Given the description of an element on the screen output the (x, y) to click on. 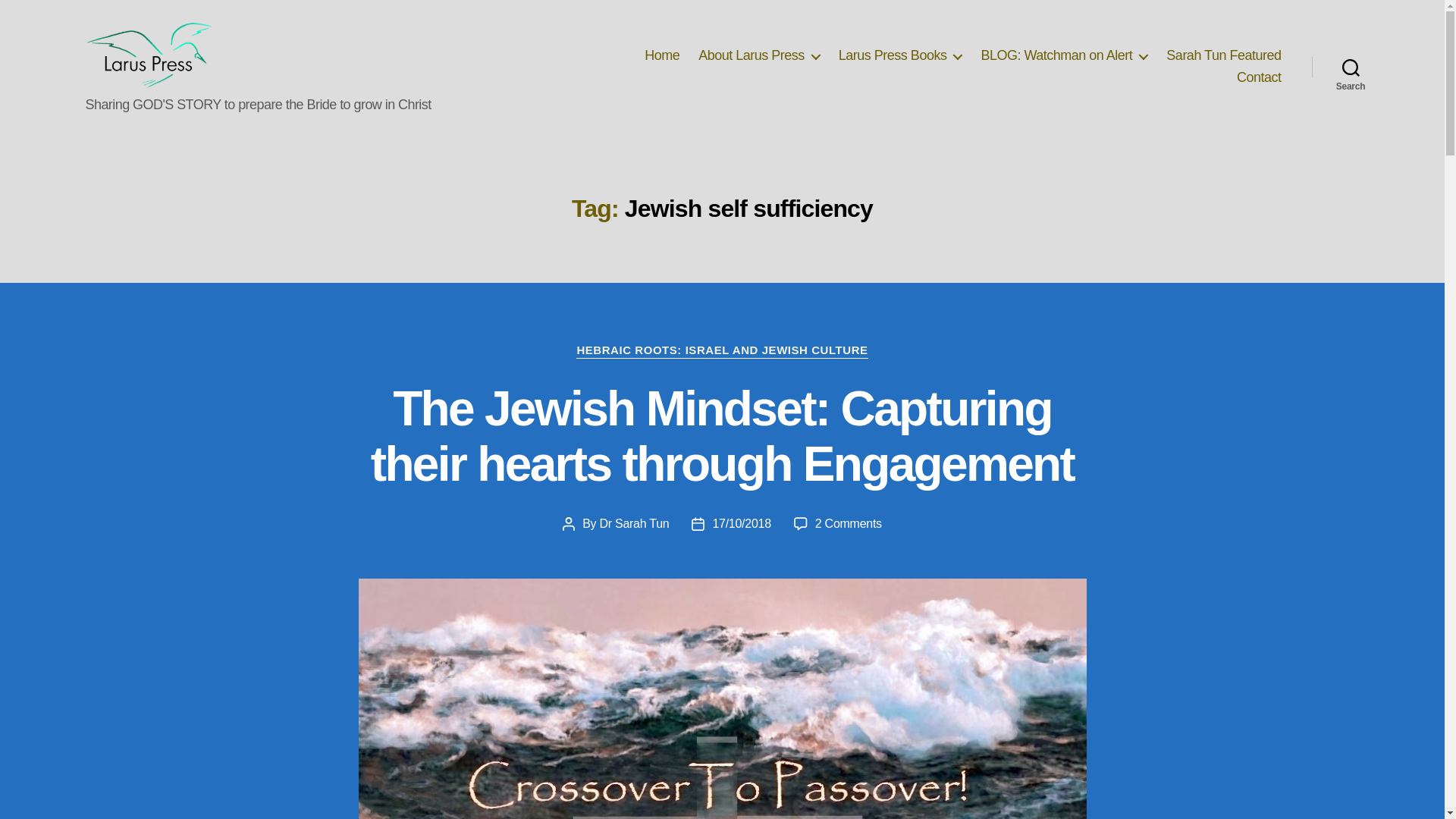
Search (1350, 66)
Sarah Tun Featured (1223, 55)
Contact (1258, 77)
BLOG: Watchman on Alert (1063, 55)
About Larus Press (758, 55)
Larus Press Books (900, 55)
Home (662, 55)
